Given the description of an element on the screen output the (x, y) to click on. 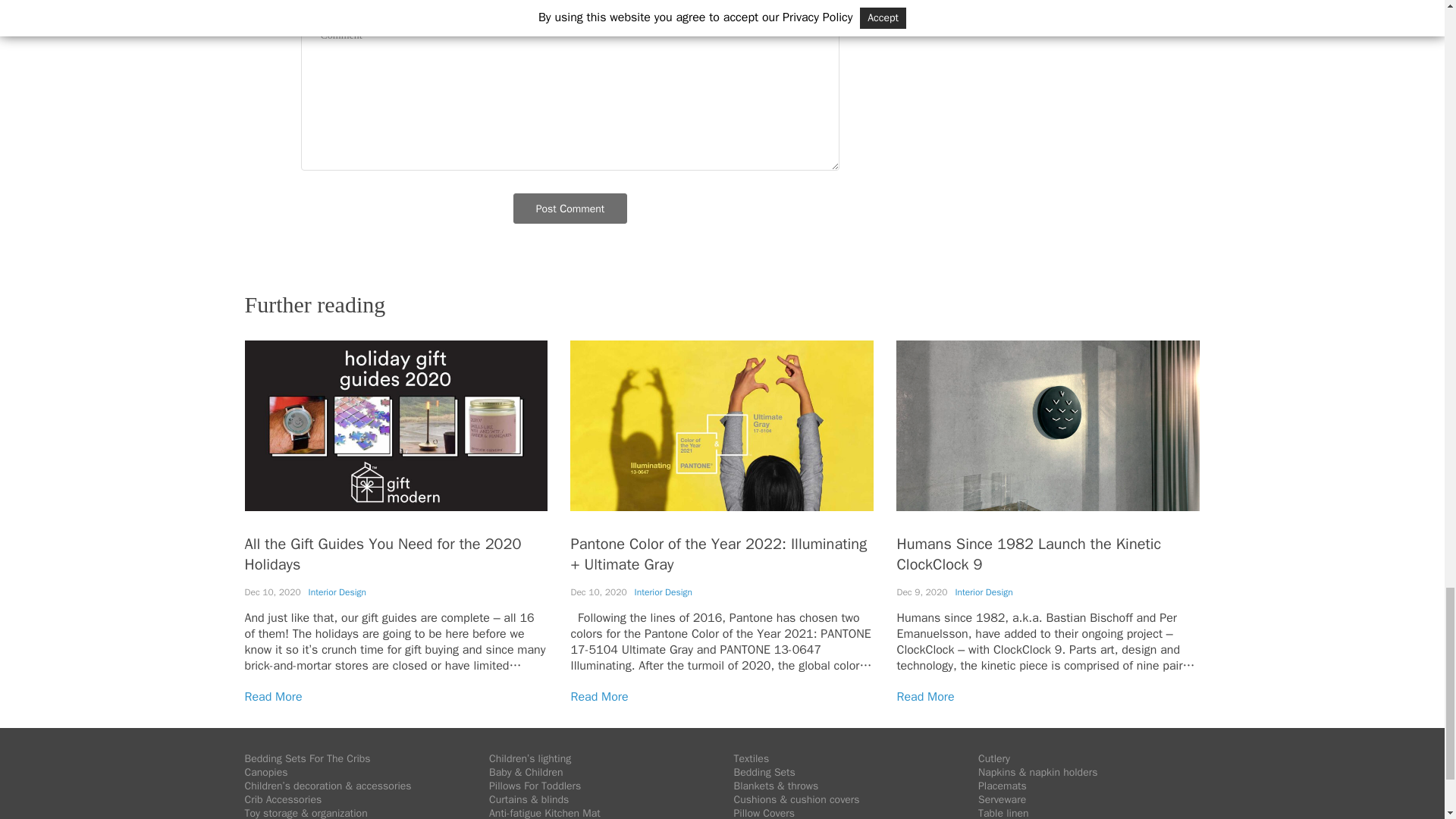
Humans Since 1982 Launch The Kinetic Clockclock 9 51 (1047, 425)
All The Gift Guides You Need For The 2020 Holidays 25 (395, 425)
